Given the description of an element on the screen output the (x, y) to click on. 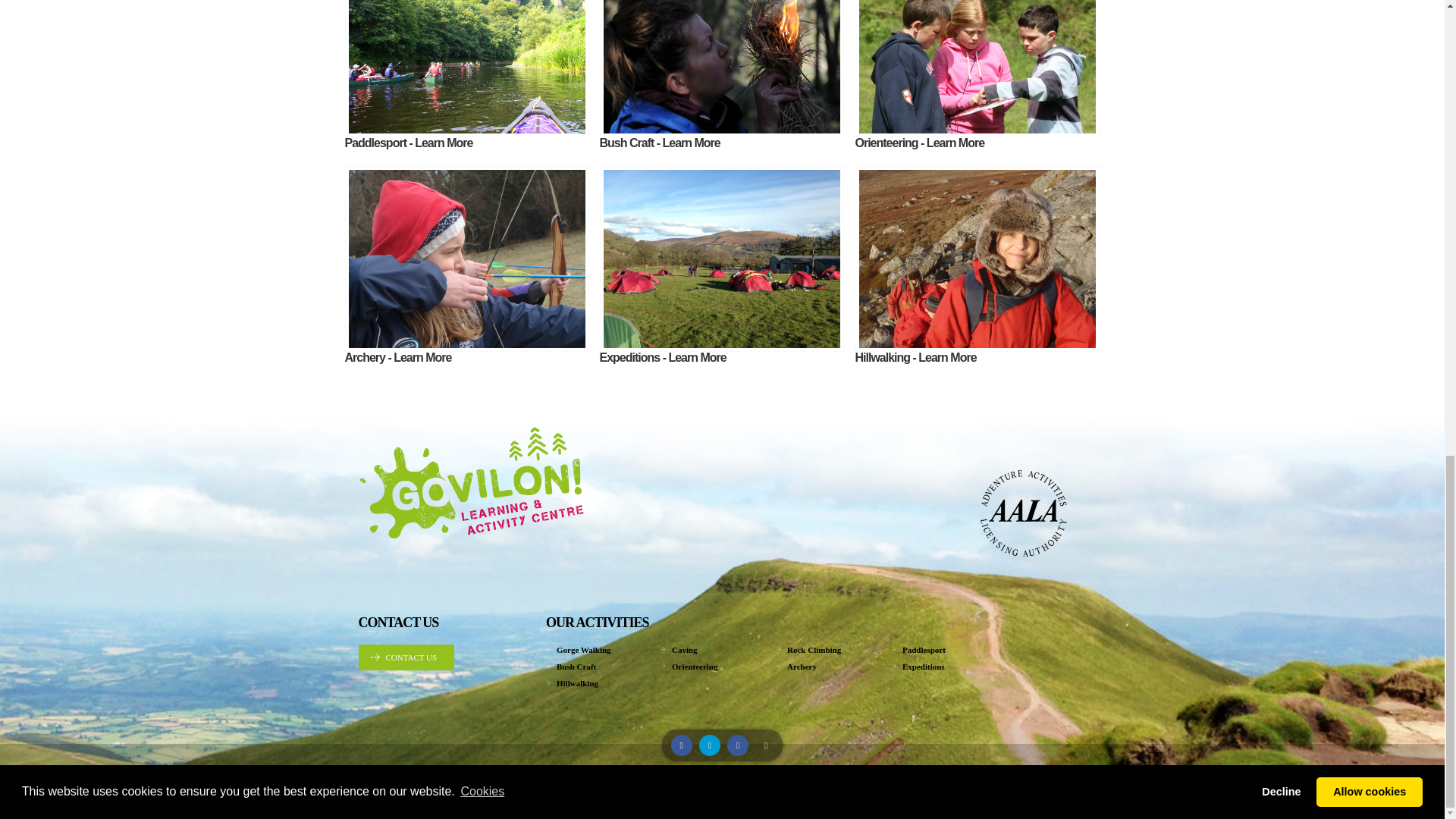
EightOne Digital - Website Design South Wales (981, 784)
Adventure Activities Licensing Authority (972, 513)
